Given the description of an element on the screen output the (x, y) to click on. 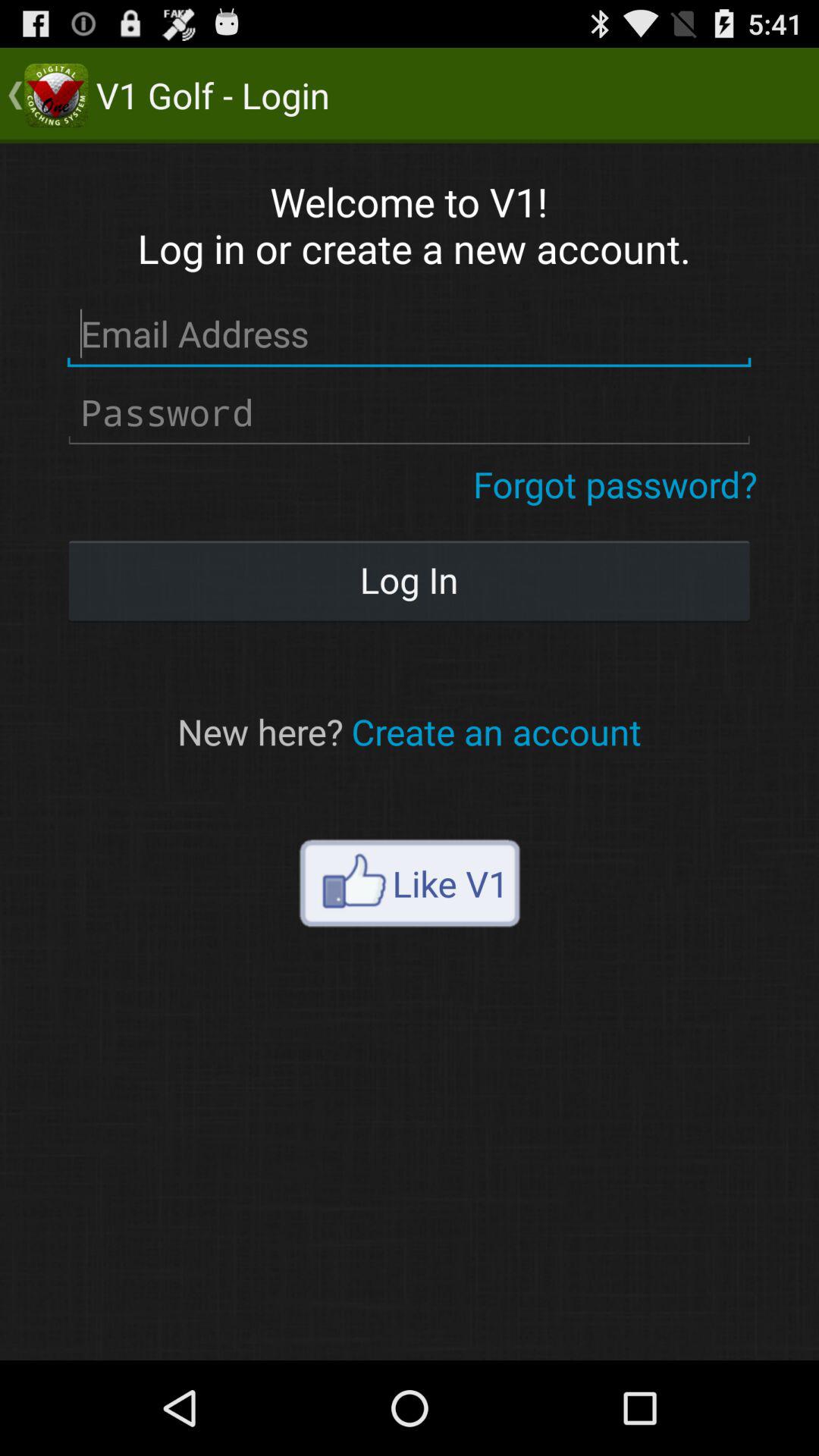
password (408, 412)
